Given the description of an element on the screen output the (x, y) to click on. 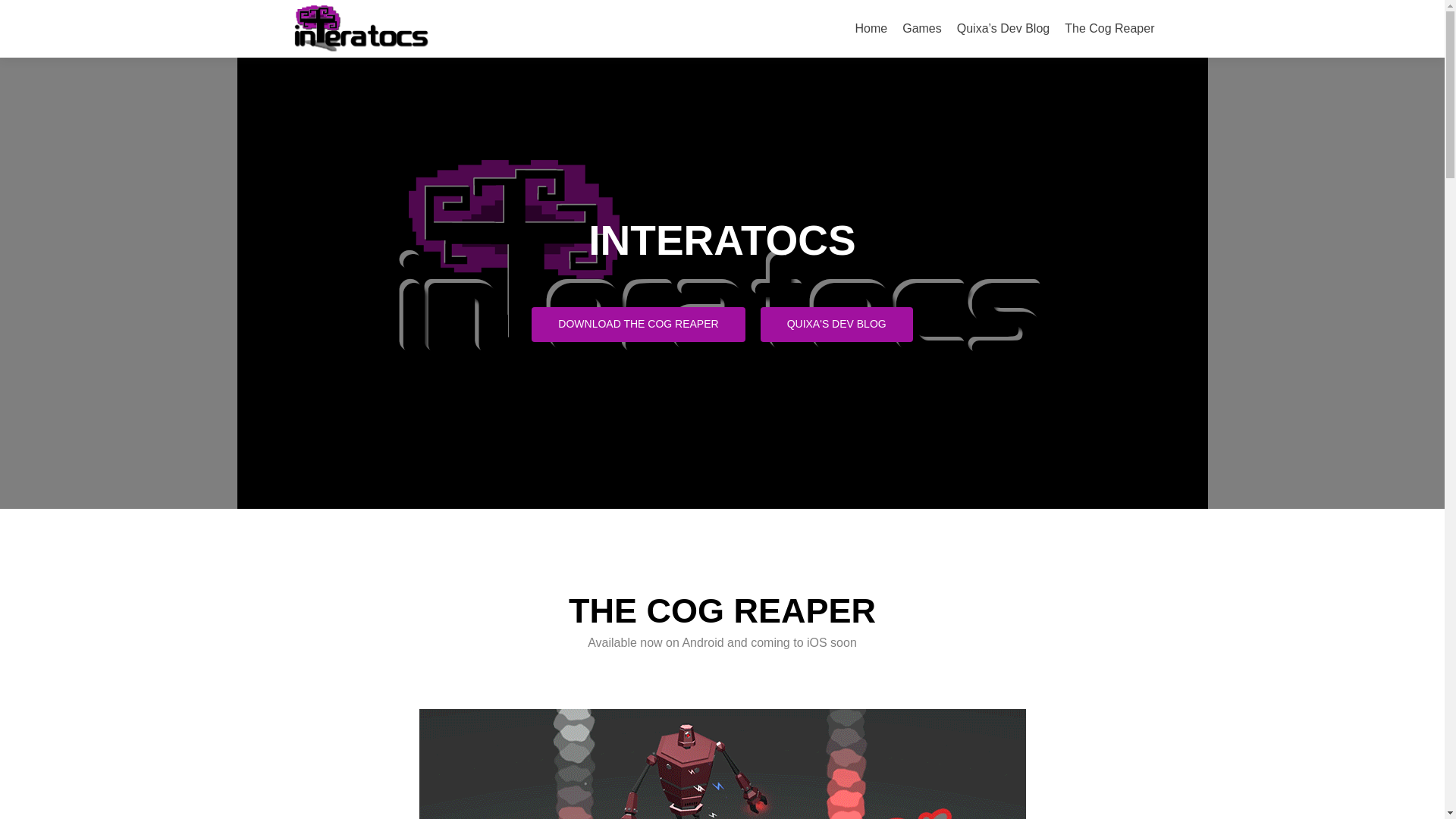
QUIXA'S DEV BLOG (836, 324)
Home (872, 28)
Games (922, 28)
DOWNLOAD THE COG REAPER (637, 324)
The Cog Reaper (1109, 28)
Skip to content (896, 9)
